Given the description of an element on the screen output the (x, y) to click on. 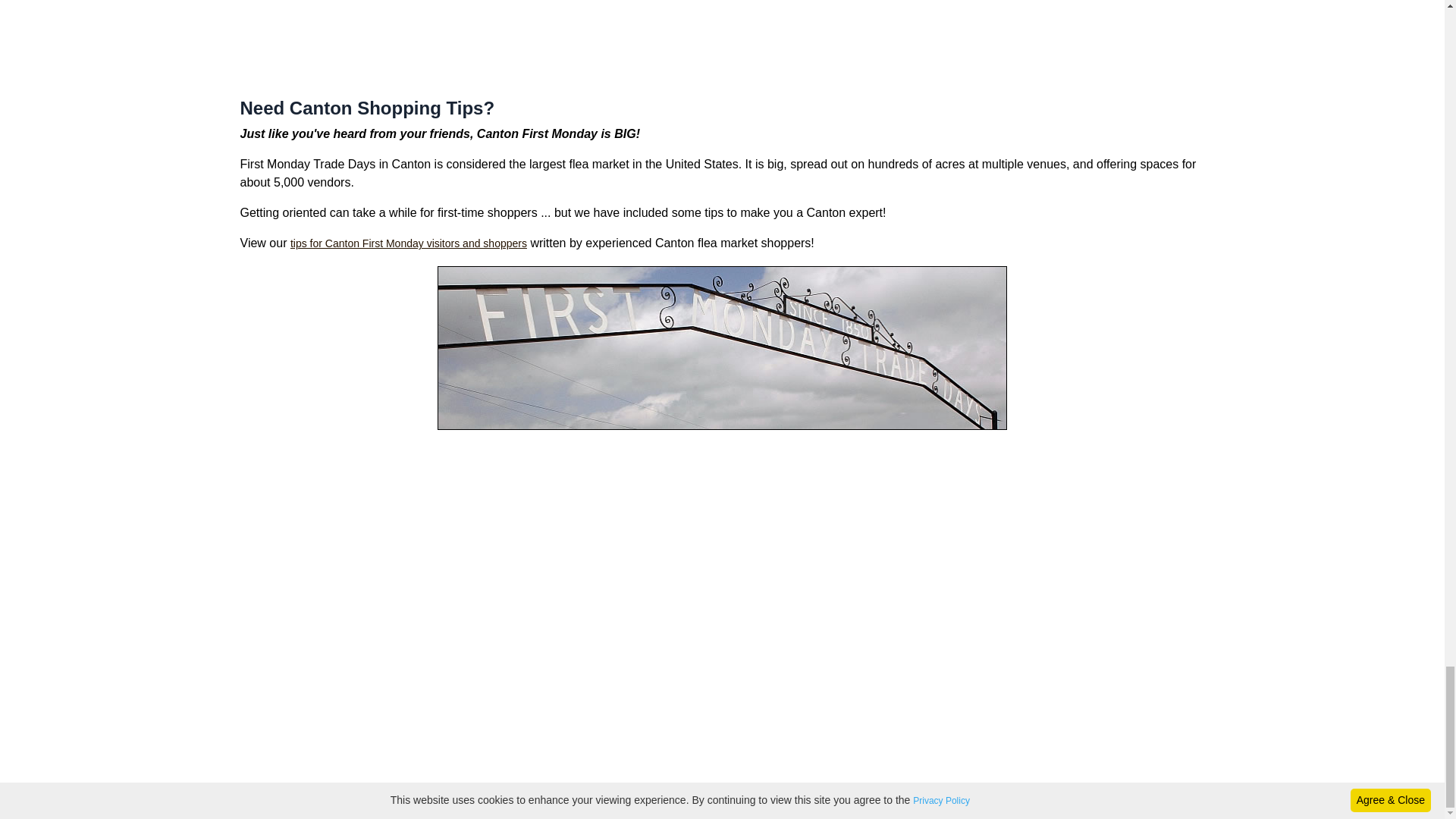
Canton First Monday Trade Days sign in Texas (722, 347)
